Given the description of an element on the screen output the (x, y) to click on. 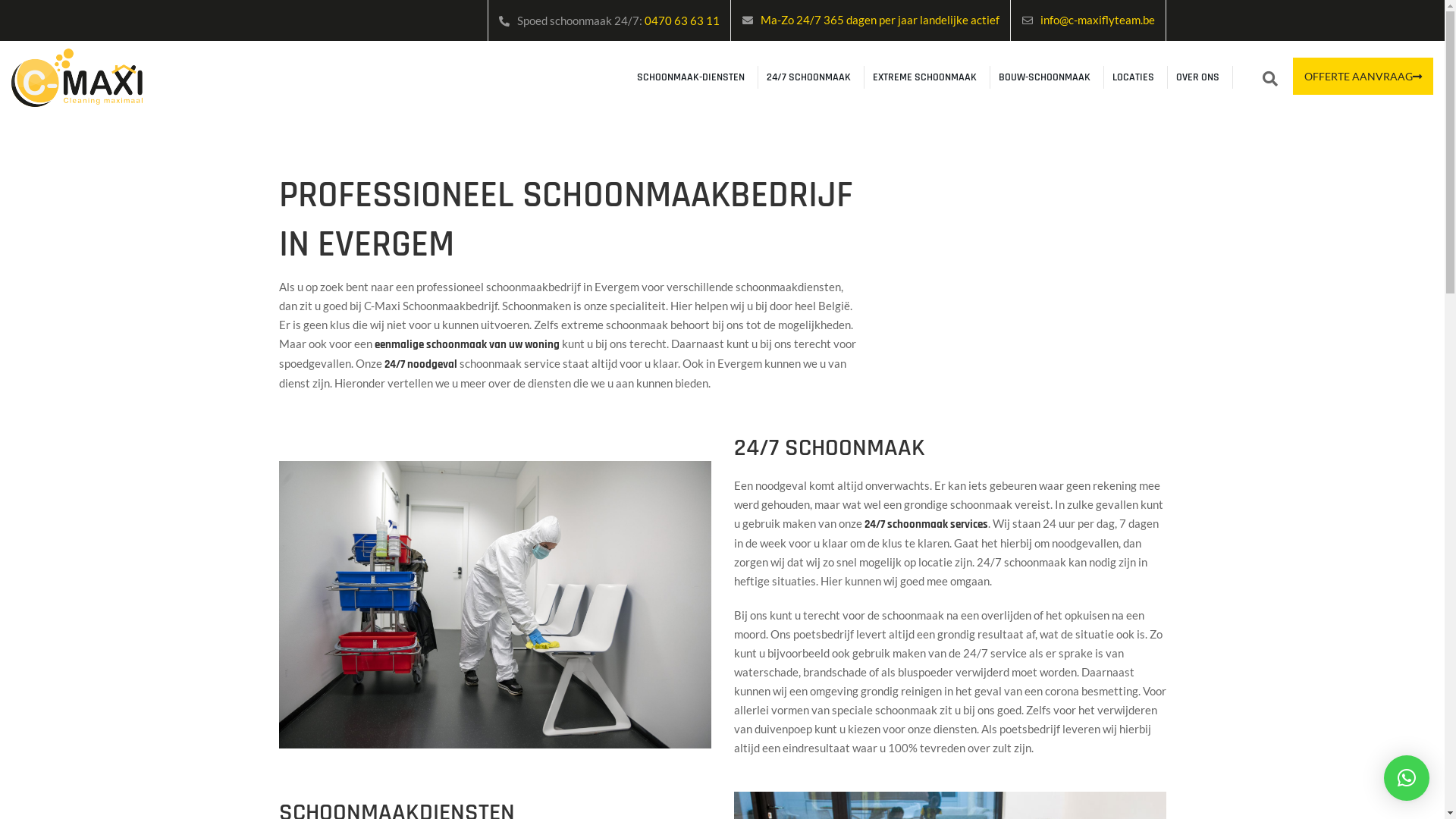
SCHOONMAAK-DIENSTEN Element type: text (690, 77)
OVER ONS Element type: text (1197, 77)
EXTREME SCHOONMAAK Element type: text (924, 77)
24/7 schoonmaak services Element type: text (926, 524)
eenmalige schoonmaak van uw woning Element type: text (466, 344)
24/7 SCHOONMAAK Element type: text (808, 77)
BOUW-SCHOONMAAK Element type: text (1044, 77)
info@c-maxiflyteam.be Element type: text (1097, 19)
24/7 noodgeval Element type: text (419, 364)
Spoed schoonmaak 24/7: 0470 63 63 11 Element type: text (618, 20)
LOCATIES Element type: text (1133, 77)
OFFERTE AANVRAAG Element type: text (1362, 75)
